Given the description of an element on the screen output the (x, y) to click on. 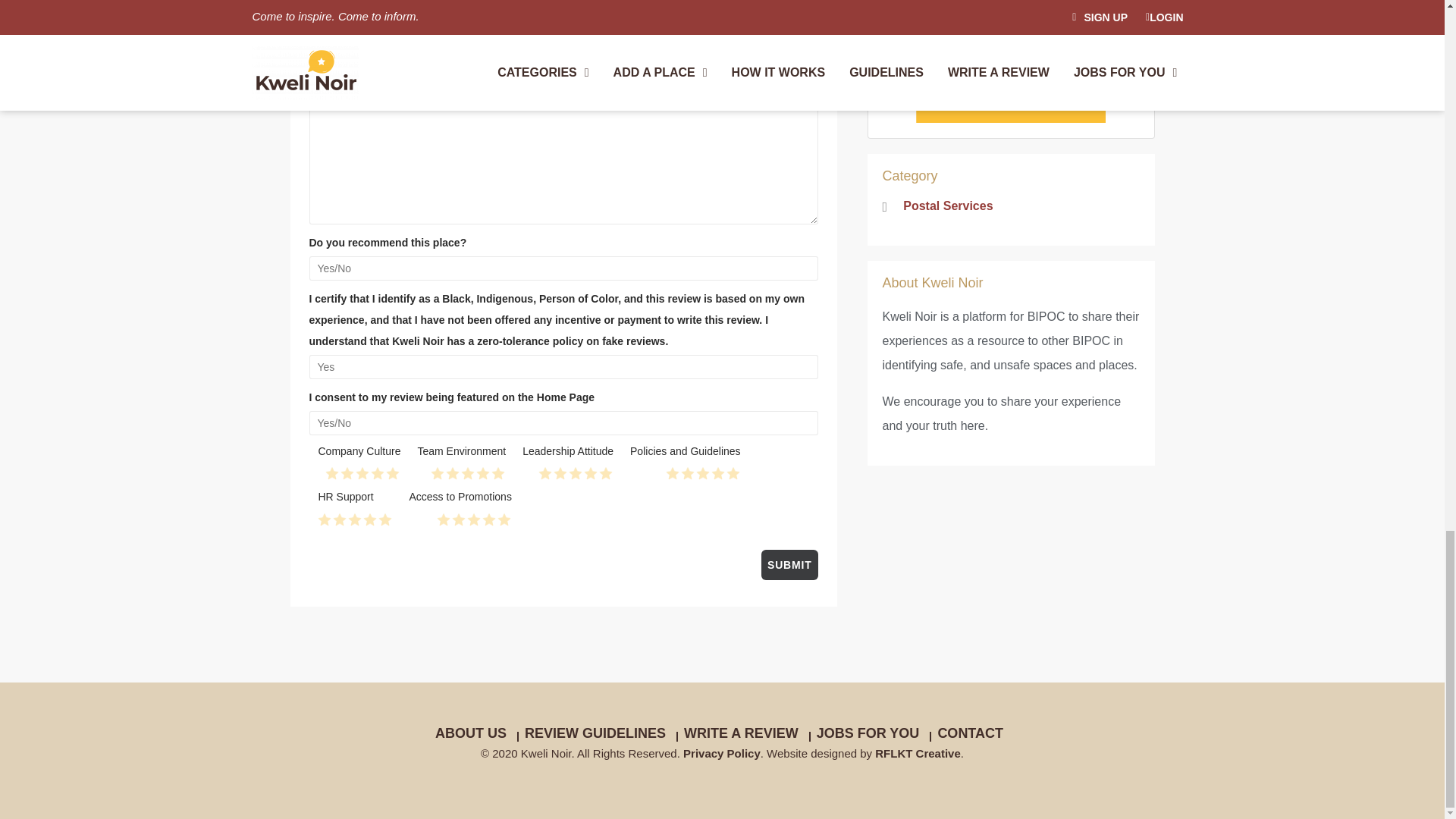
Submit (788, 564)
